Given the description of an element on the screen output the (x, y) to click on. 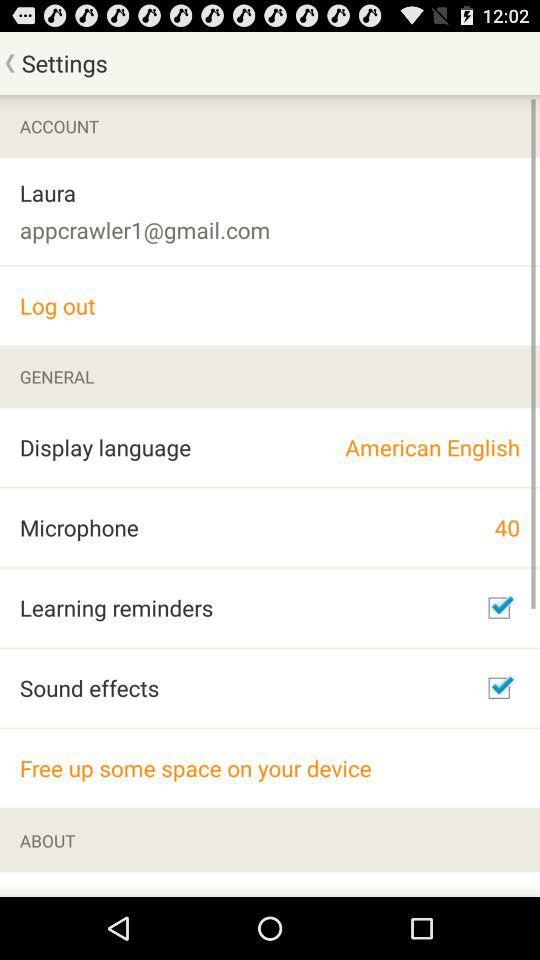
learning reminders toggle option (499, 607)
